Given the description of an element on the screen output the (x, y) to click on. 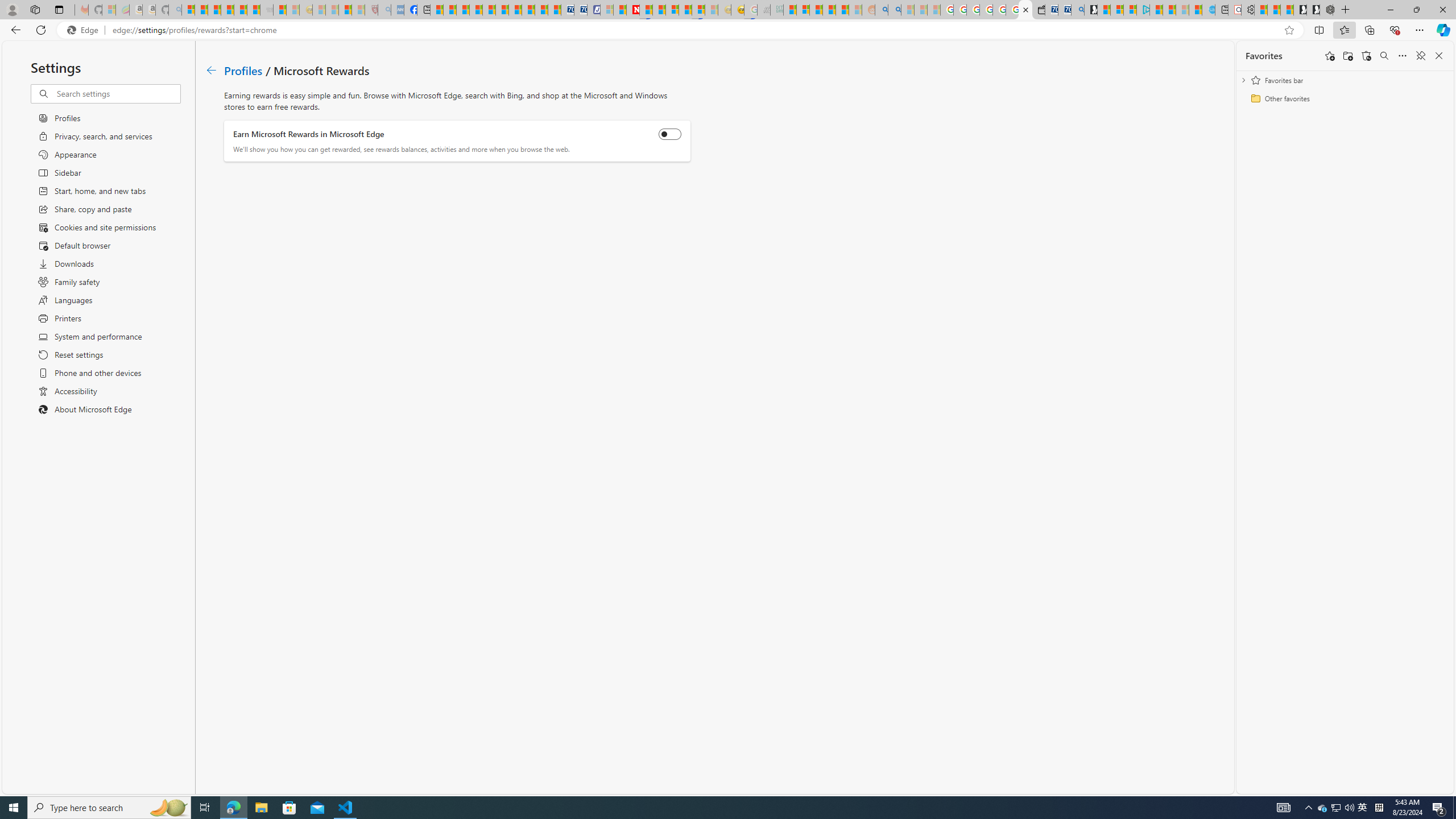
Student Loan Update: Forgiveness Program Ends This Month (842, 9)
Unpin favorites (1420, 55)
